Given the description of an element on the screen output the (x, y) to click on. 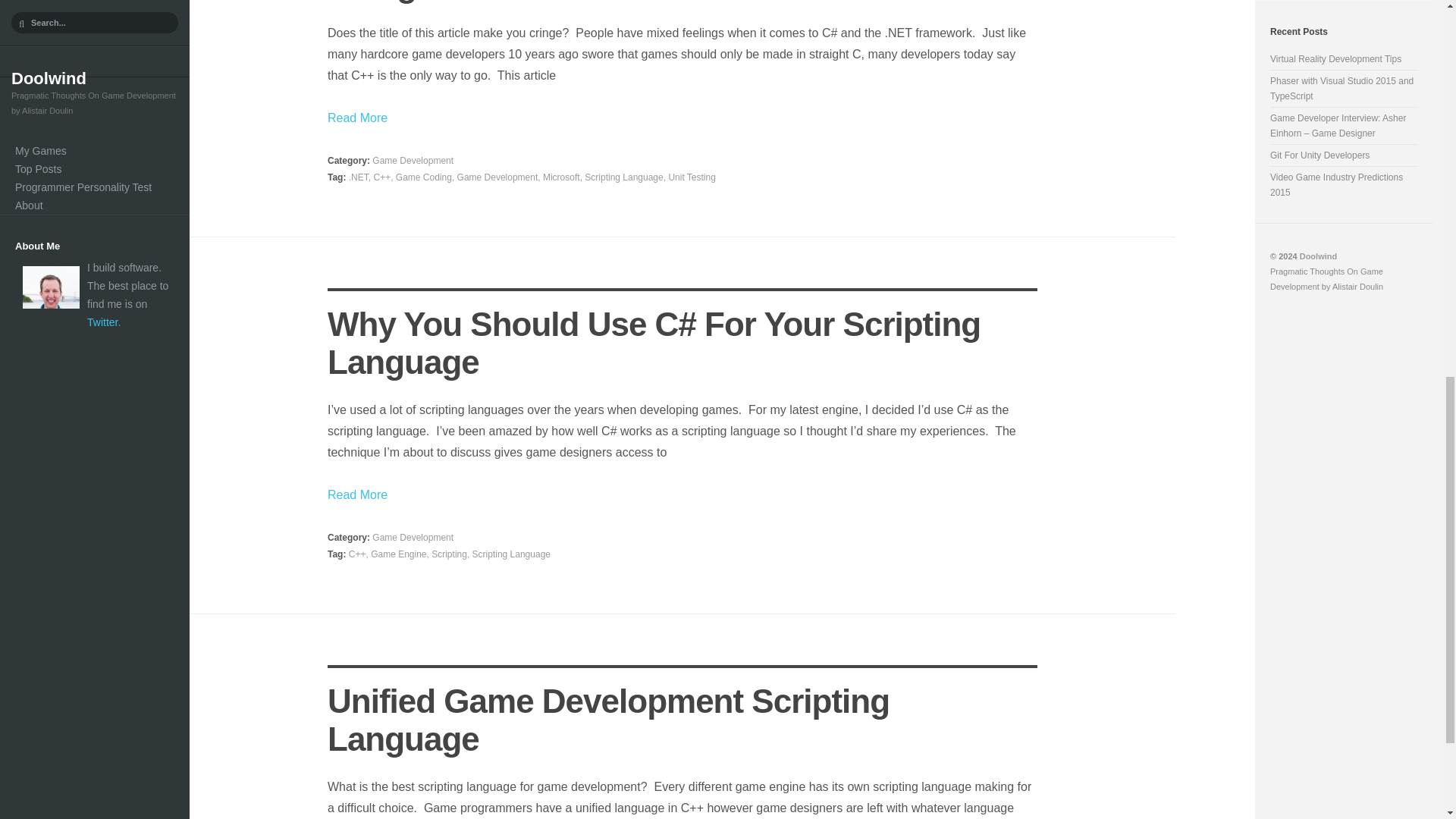
.NET (358, 176)
Unified Game Development Scripting Language (608, 719)
Game Development (412, 160)
Game Coding (423, 176)
Read More (681, 117)
